Given the description of an element on the screen output the (x, y) to click on. 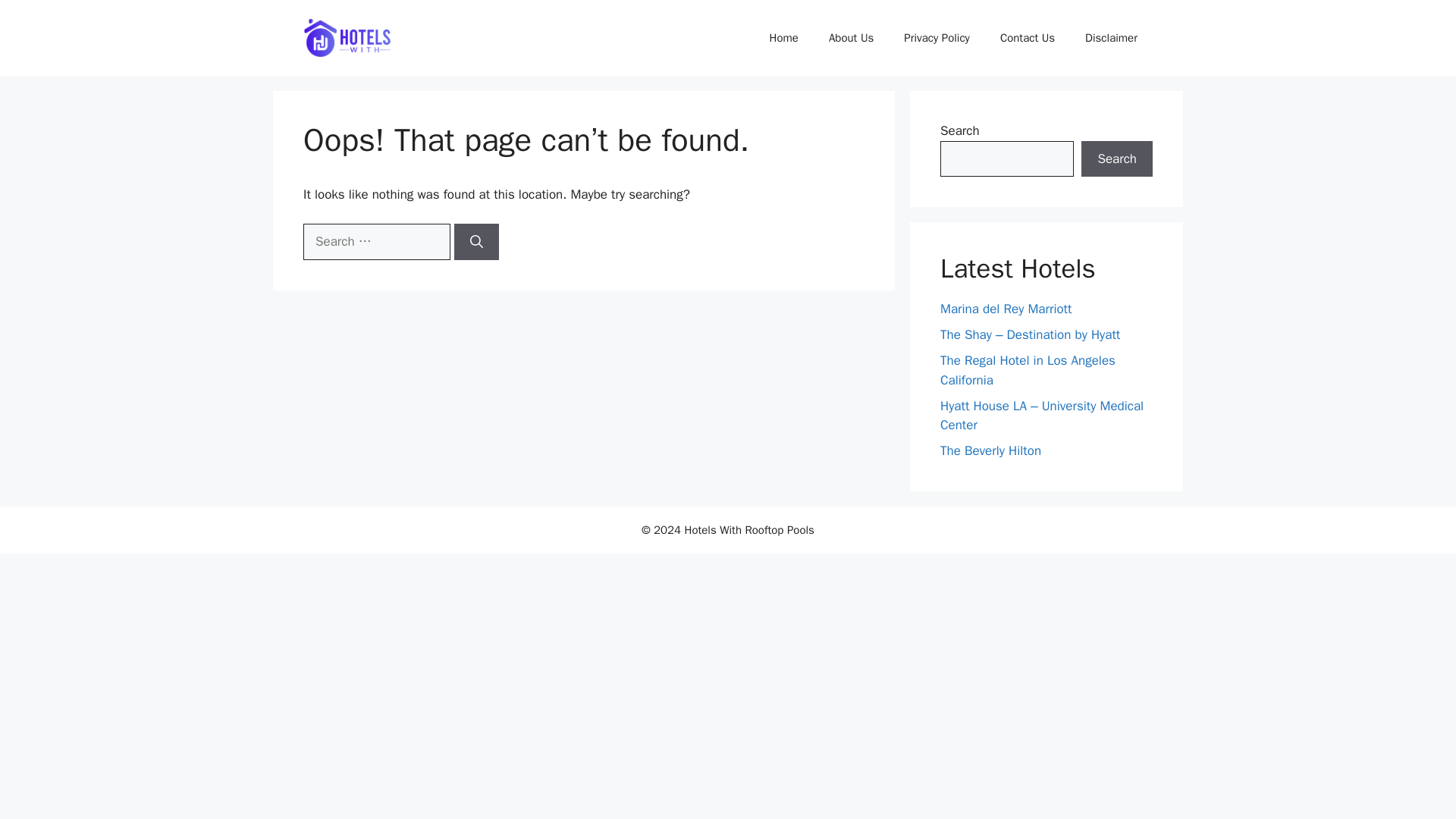
About Us (850, 37)
Marina del Rey Marriott (1005, 308)
The Beverly Hilton (990, 450)
Home (783, 37)
The Regal Hotel in Los Angeles California (1027, 370)
Privacy Policy (936, 37)
Search (1117, 158)
Search for: (375, 241)
Disclaimer (1111, 37)
Contact Us (1027, 37)
